Given the description of an element on the screen output the (x, y) to click on. 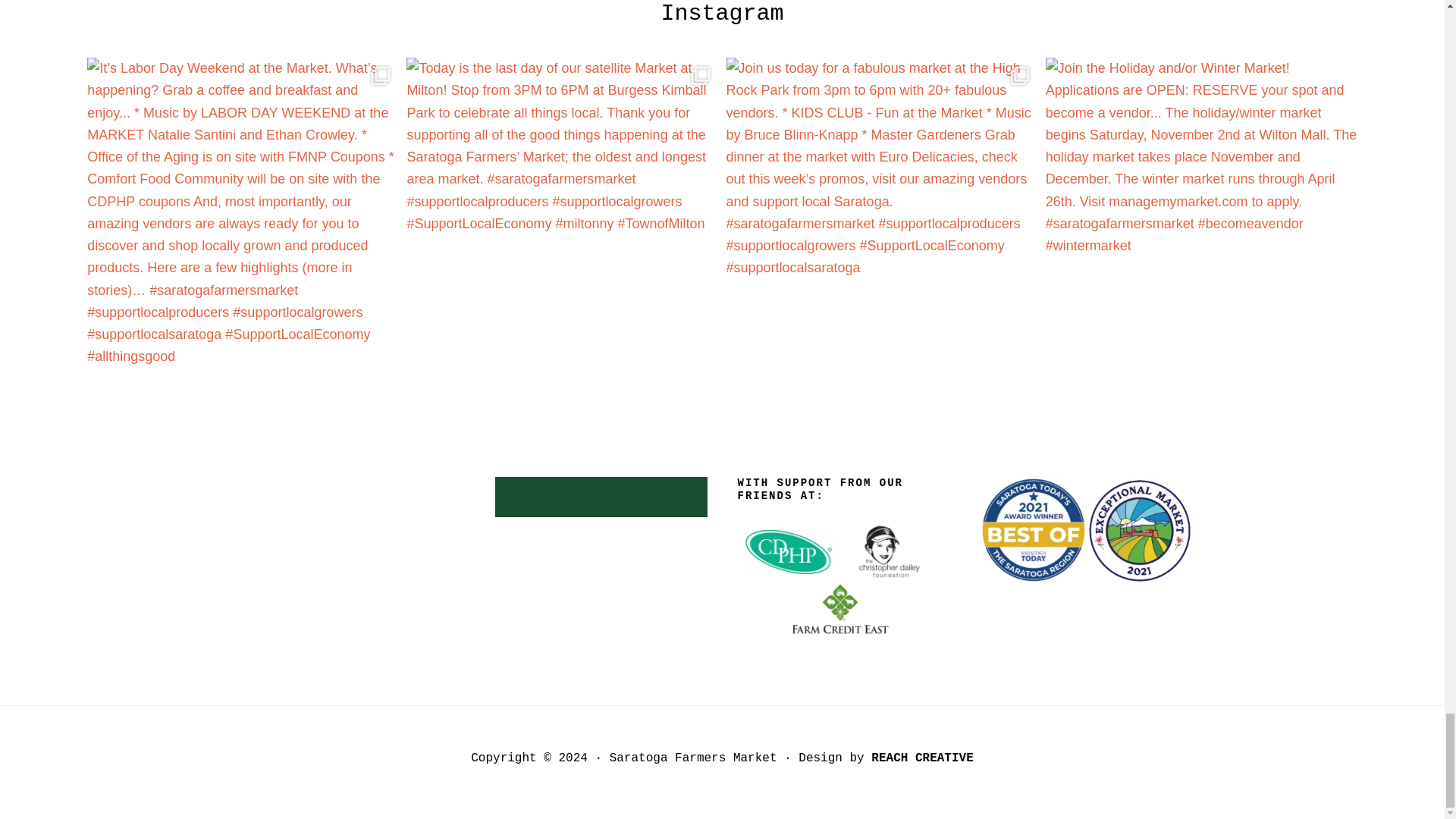
With support from our friends at: (842, 577)
